Given the description of an element on the screen output the (x, y) to click on. 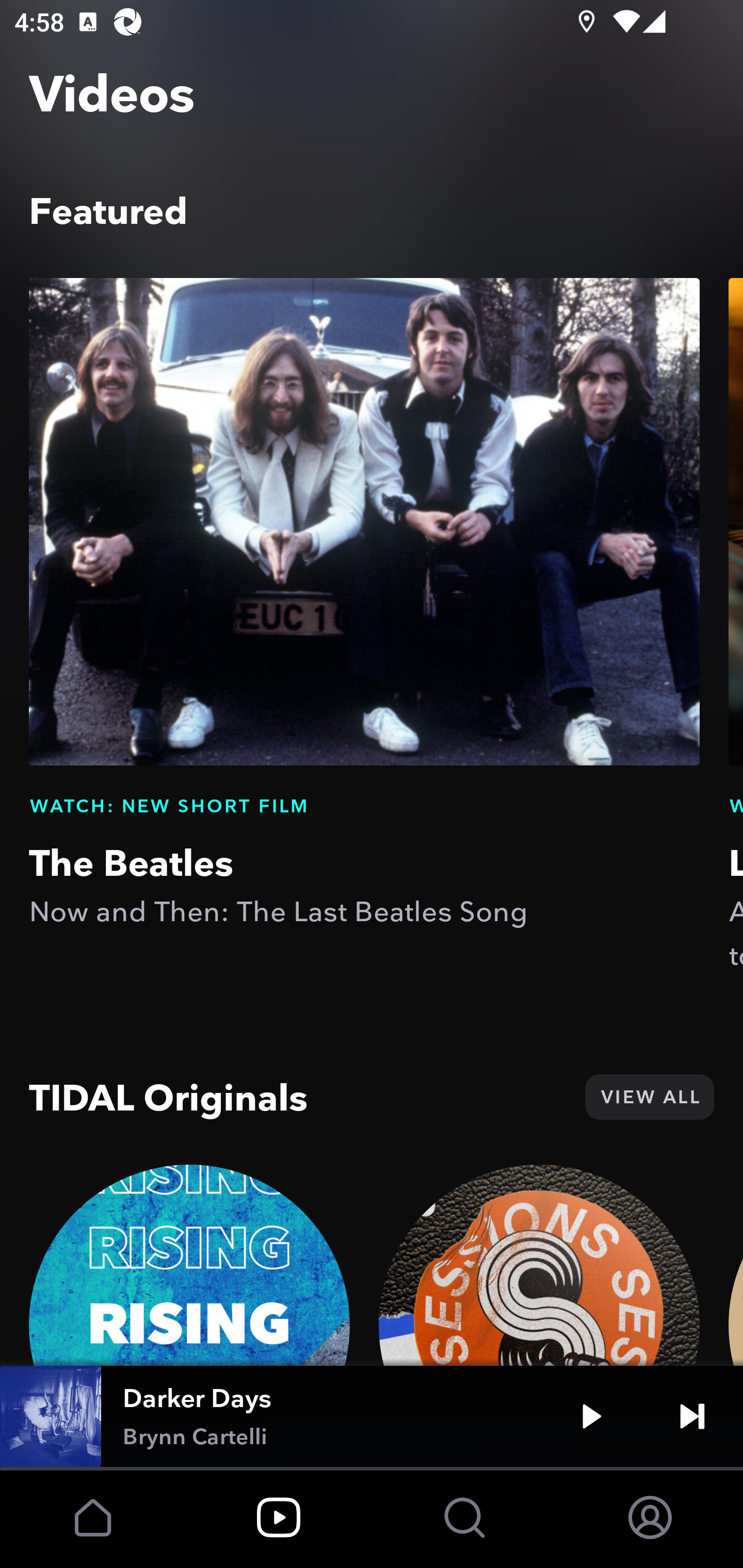
VIEW ALL (649, 1096)
Darker Days Brynn Cartelli Play (371, 1416)
Play (590, 1416)
